Given the description of an element on the screen output the (x, y) to click on. 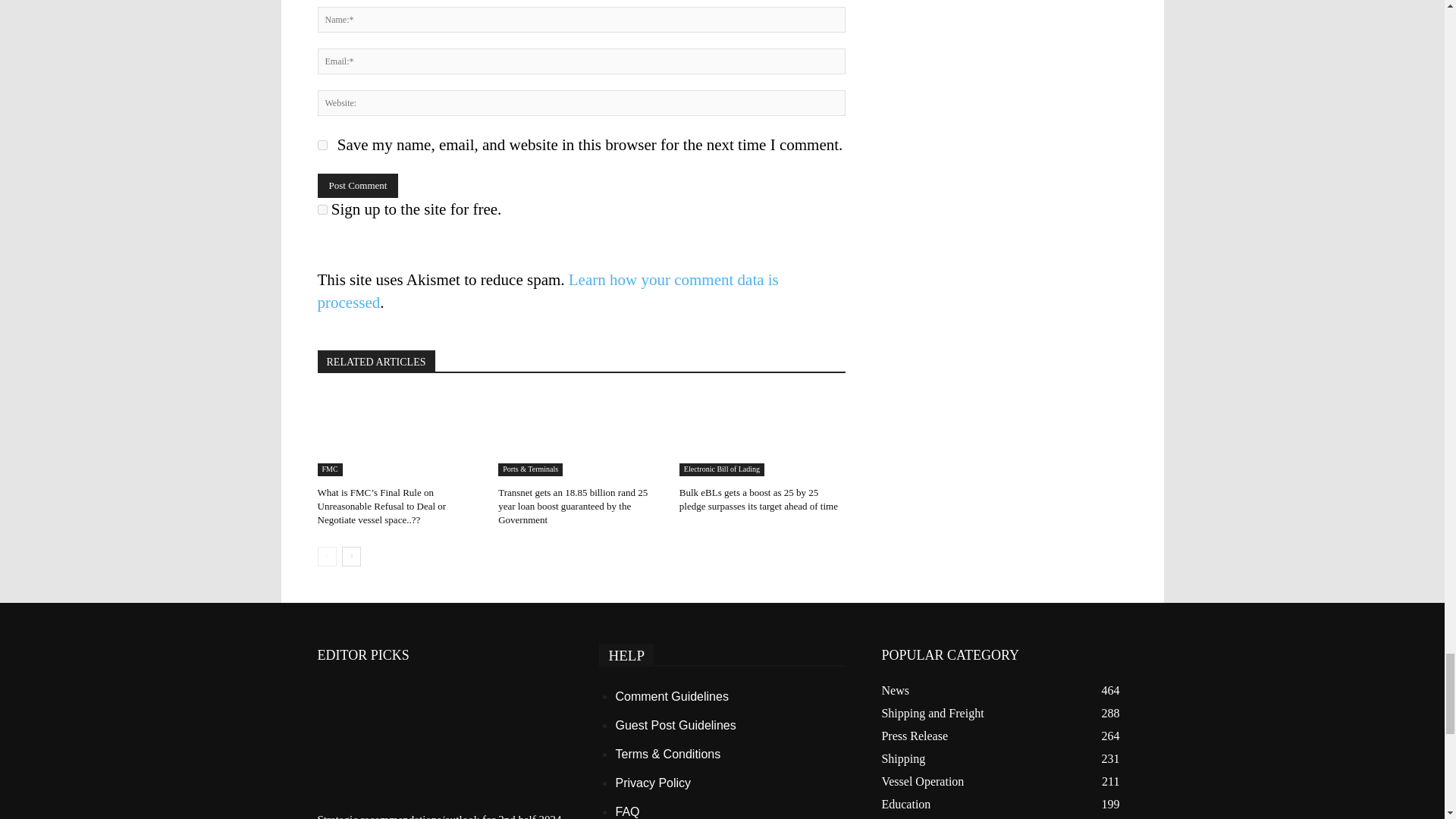
1 (321, 209)
yes (321, 144)
Post Comment (357, 185)
